Given the description of an element on the screen output the (x, y) to click on. 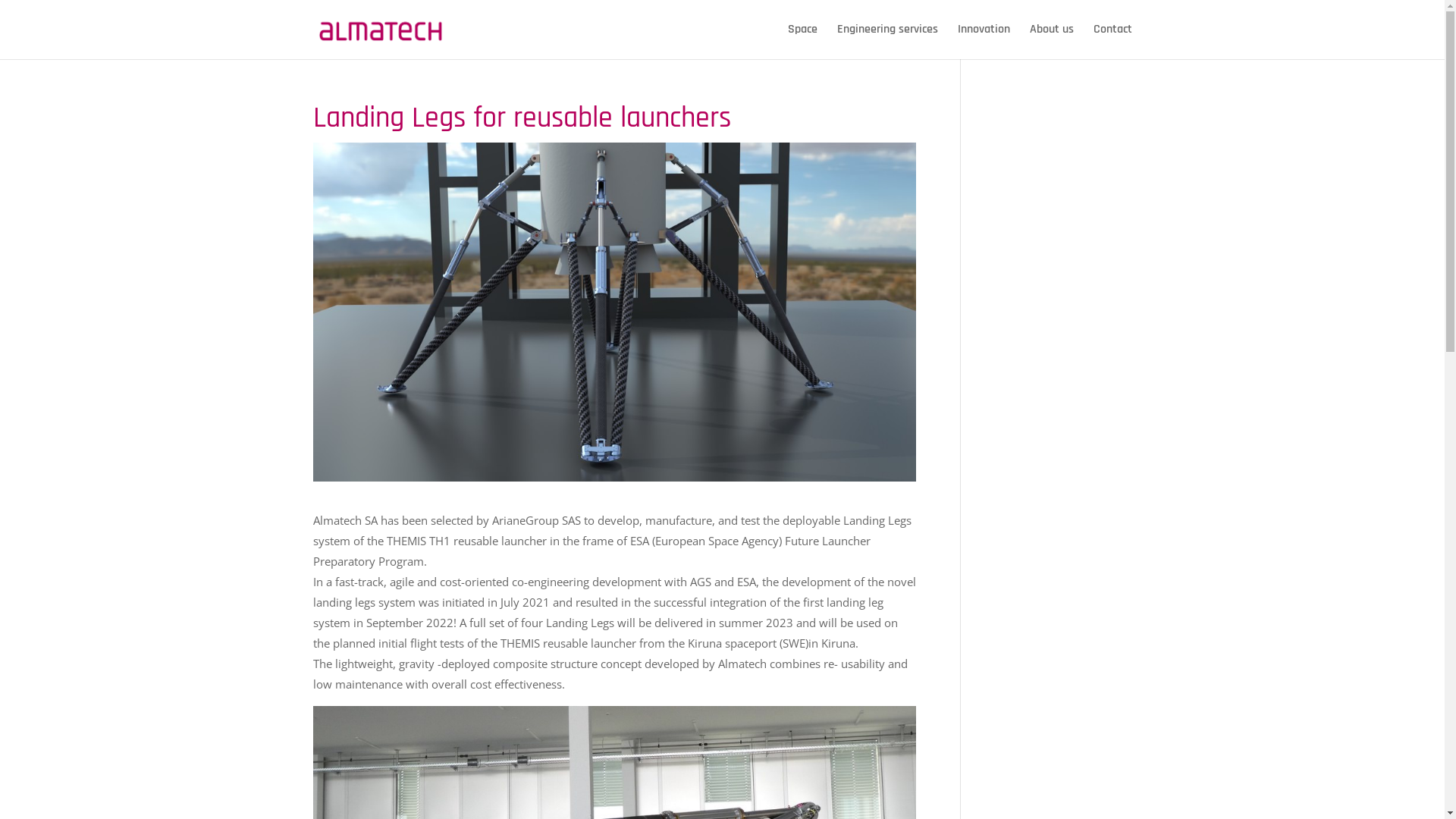
Innovation Element type: text (983, 41)
Engineering services Element type: text (887, 41)
Contact Element type: text (1112, 41)
Space Element type: text (801, 41)
About us Element type: text (1051, 41)
